Given the description of an element on the screen output the (x, y) to click on. 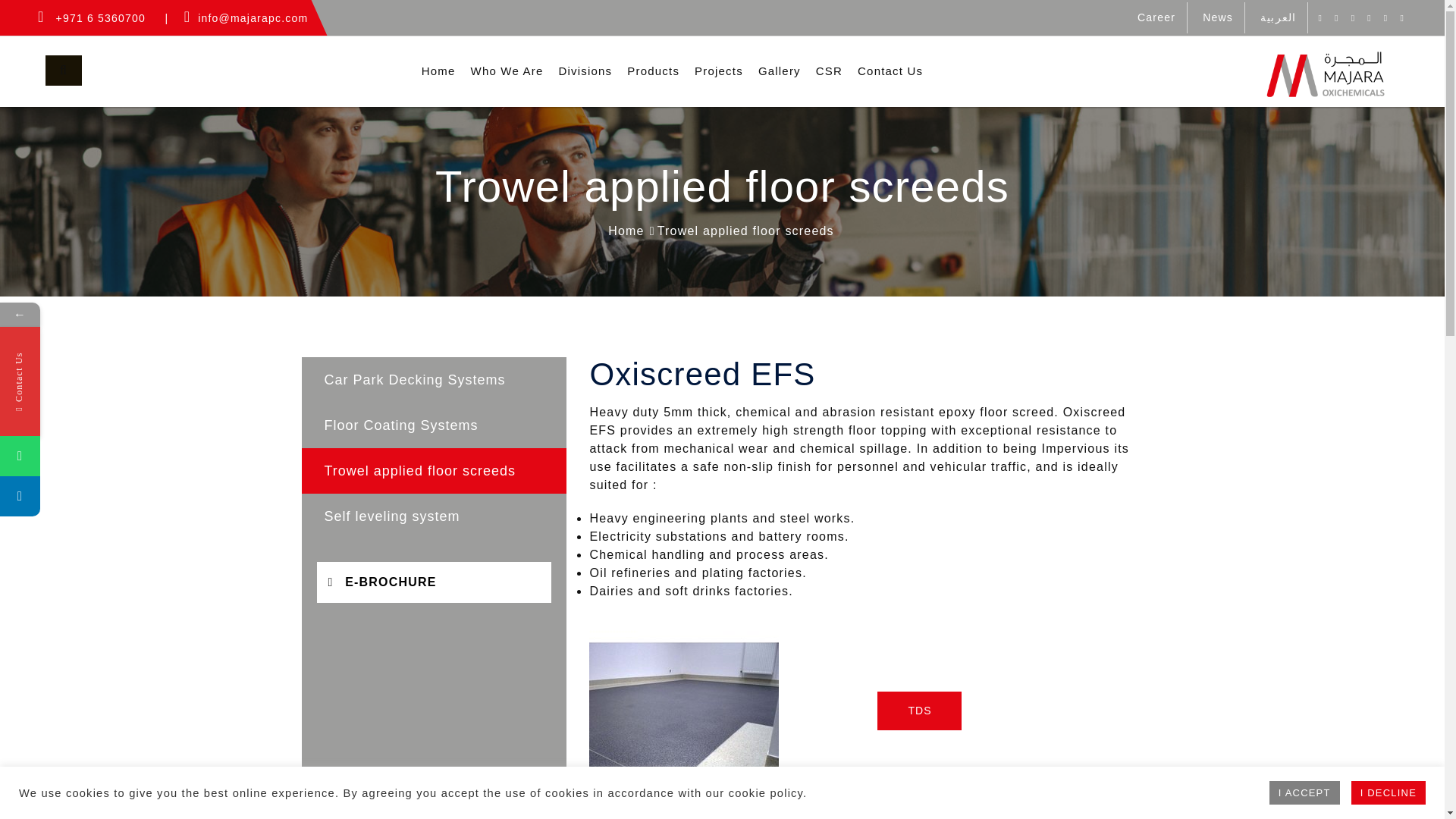
Career (1155, 17)
Whatsapp (92, 455)
Who We Are (507, 71)
Products (653, 71)
LinkedIn (92, 495)
News (1217, 17)
TDS (918, 710)
LinkedIn (20, 495)
Whatsapp (20, 455)
Divisions (585, 71)
